Given the description of an element on the screen output the (x, y) to click on. 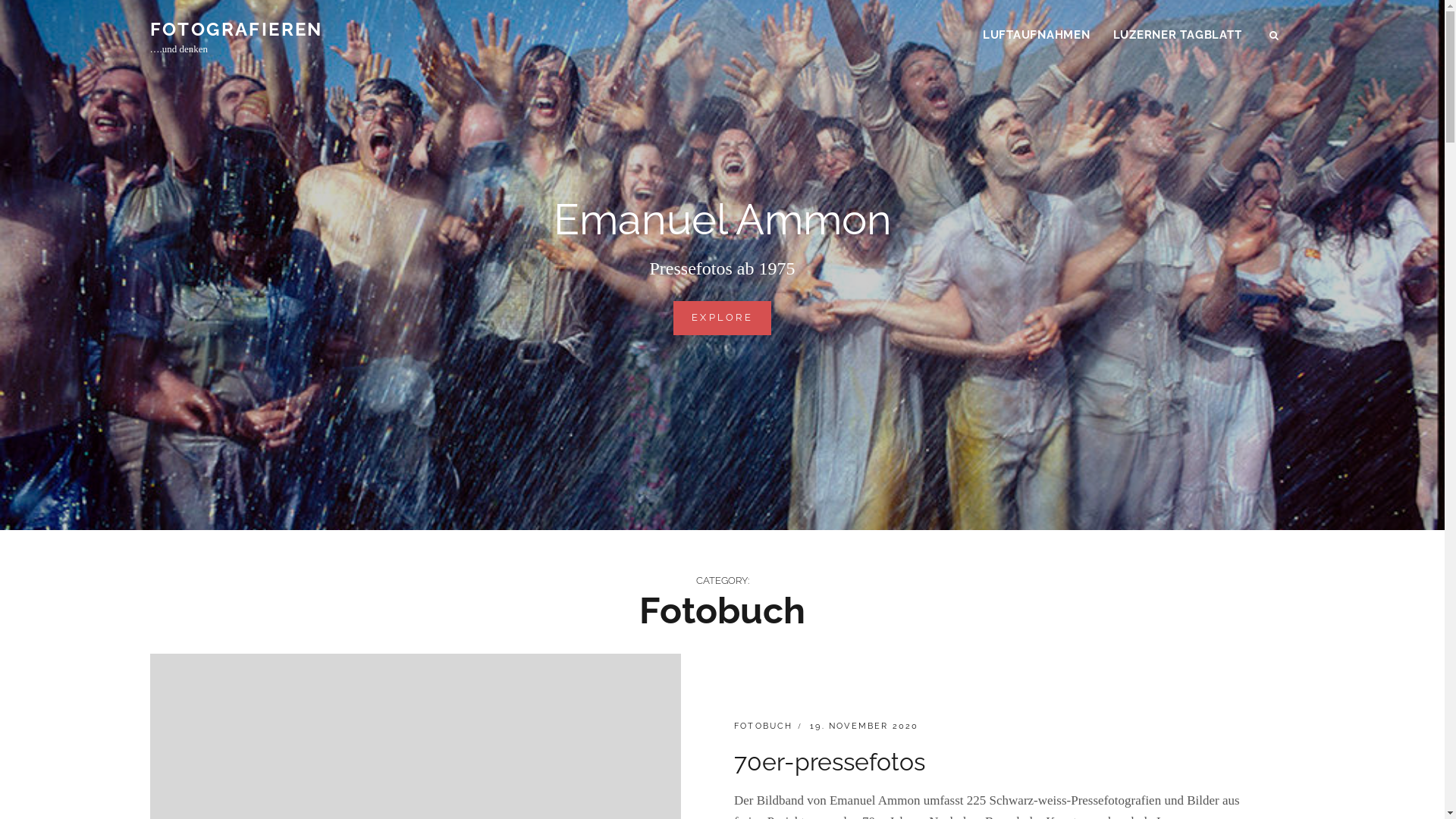
70er-pressefotos Element type: text (829, 761)
FOTOGRAFIEREN Element type: text (236, 29)
19. NOVEMBER 2020 Element type: text (863, 726)
Skip to content Element type: text (0, 0)
FOTOBUCH Element type: text (763, 726)
LUFTAUFNAHMEN Element type: text (1036, 34)
LUZERNER TAGBLATT Element type: text (1176, 34)
SEARCH Element type: text (1274, 36)
EXPLORE
EMANUEL AMMON Element type: text (722, 318)
